Given the description of an element on the screen output the (x, y) to click on. 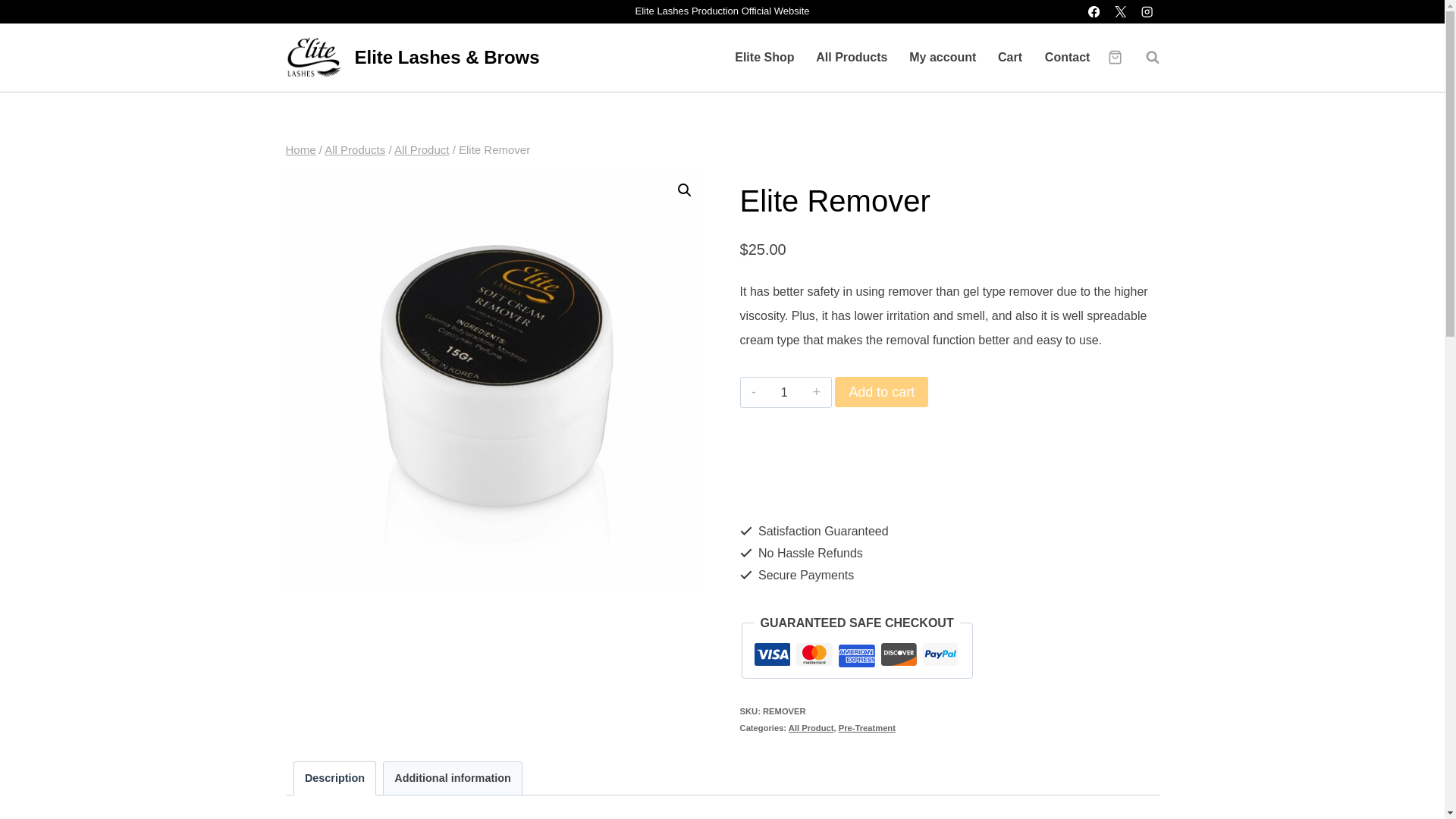
Additional information (452, 778)
Home (300, 149)
PayPal (948, 488)
Pre-Treatment (866, 727)
Cart (1010, 57)
All Products (354, 149)
Add to cart (881, 391)
My account (942, 57)
All Products (851, 57)
- (754, 391)
Description (334, 778)
All Product (421, 149)
PayPal Message 1 (948, 440)
Contact (1066, 57)
